Given the description of an element on the screen output the (x, y) to click on. 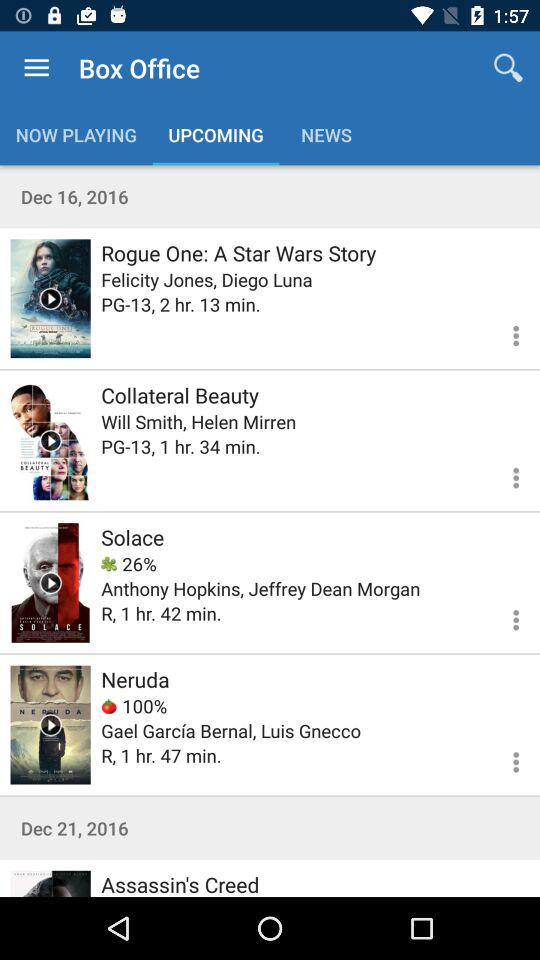
click video to play (50, 298)
